Given the description of an element on the screen output the (x, y) to click on. 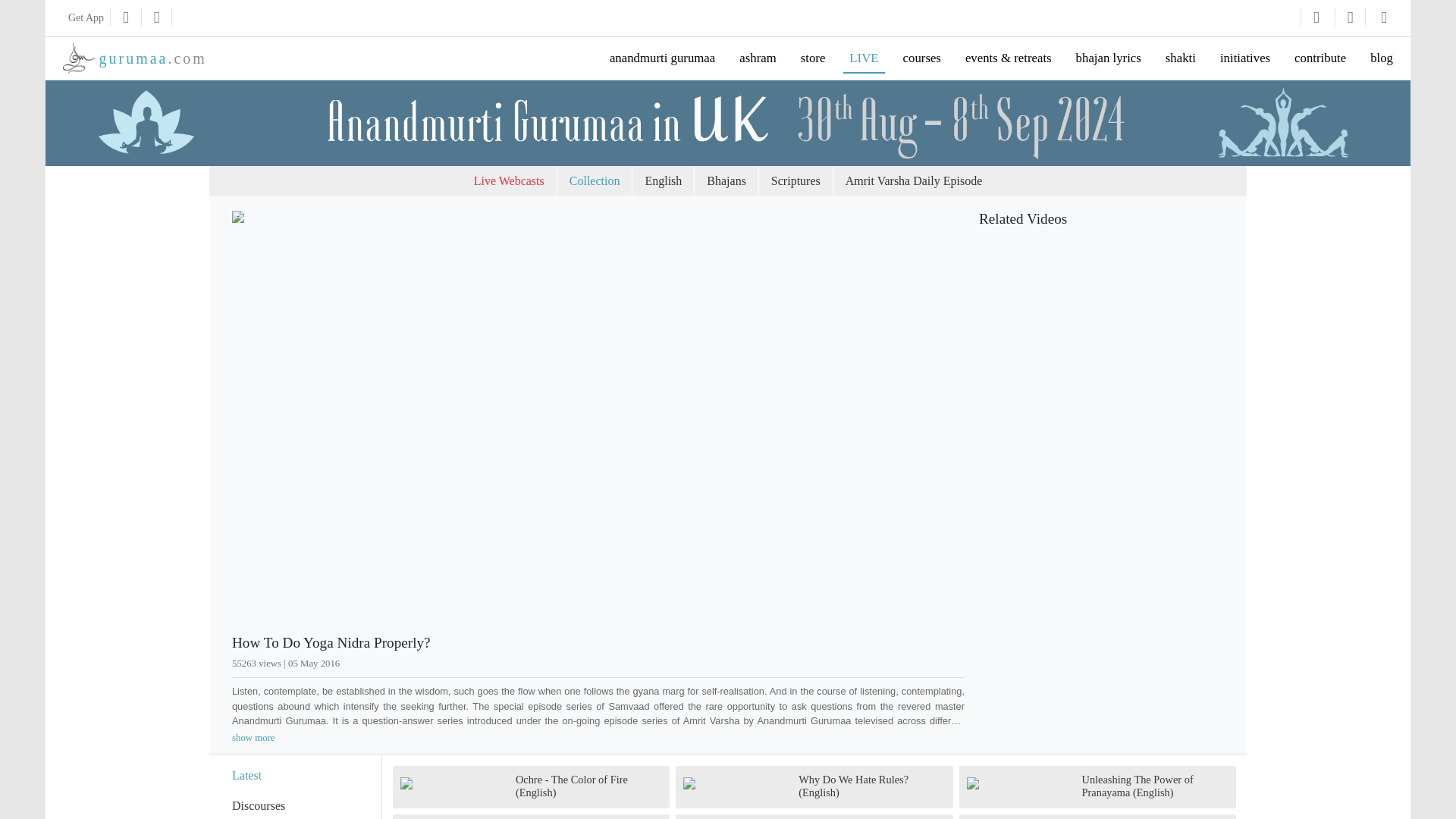
538 (506, 663)
Collection (595, 181)
Amrit Varsha Daily Episode (913, 181)
Bhajans (726, 181)
blog (1381, 57)
store (812, 57)
871 videos (294, 804)
bhajan lyrics (1108, 57)
Scriptures (795, 181)
initiatives (1245, 57)
Bhajans (726, 181)
English (662, 181)
Live Webcasts (134, 58)
shakti (509, 181)
